Given the description of an element on the screen output the (x, y) to click on. 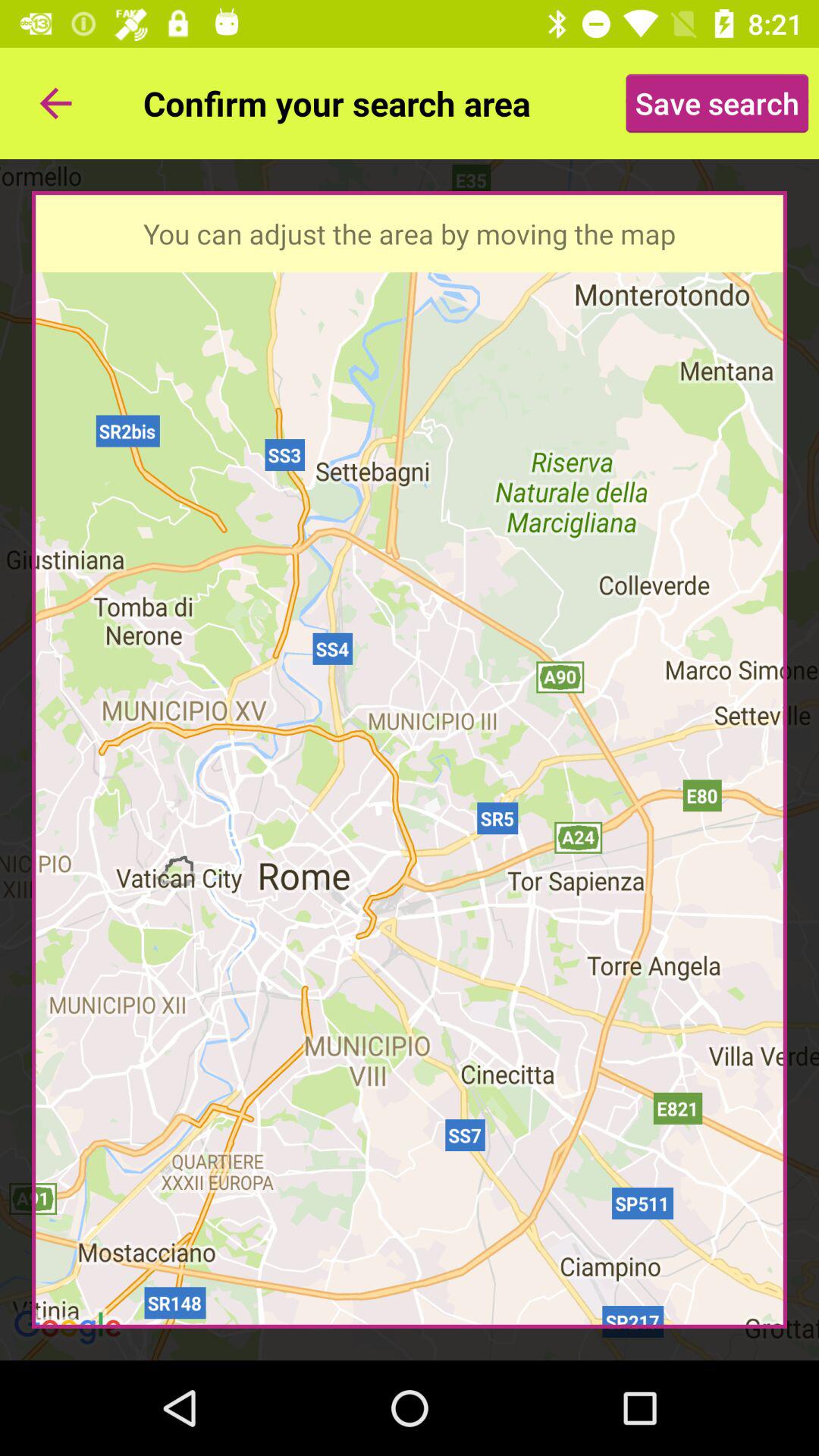
turn on item next to confirm your search icon (55, 103)
